Given the description of an element on the screen output the (x, y) to click on. 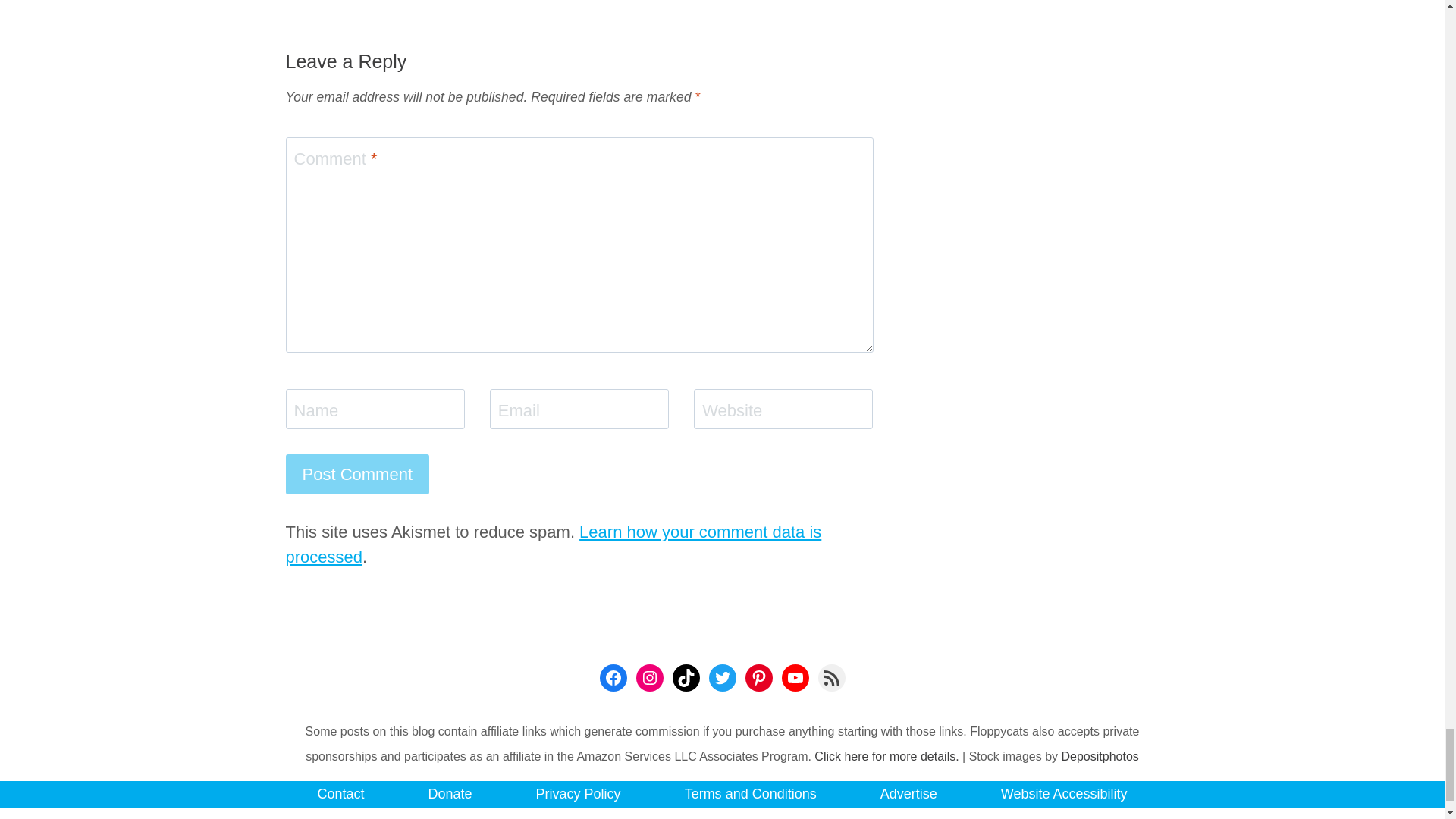
Post Comment (357, 474)
